Given the description of an element on the screen output the (x, y) to click on. 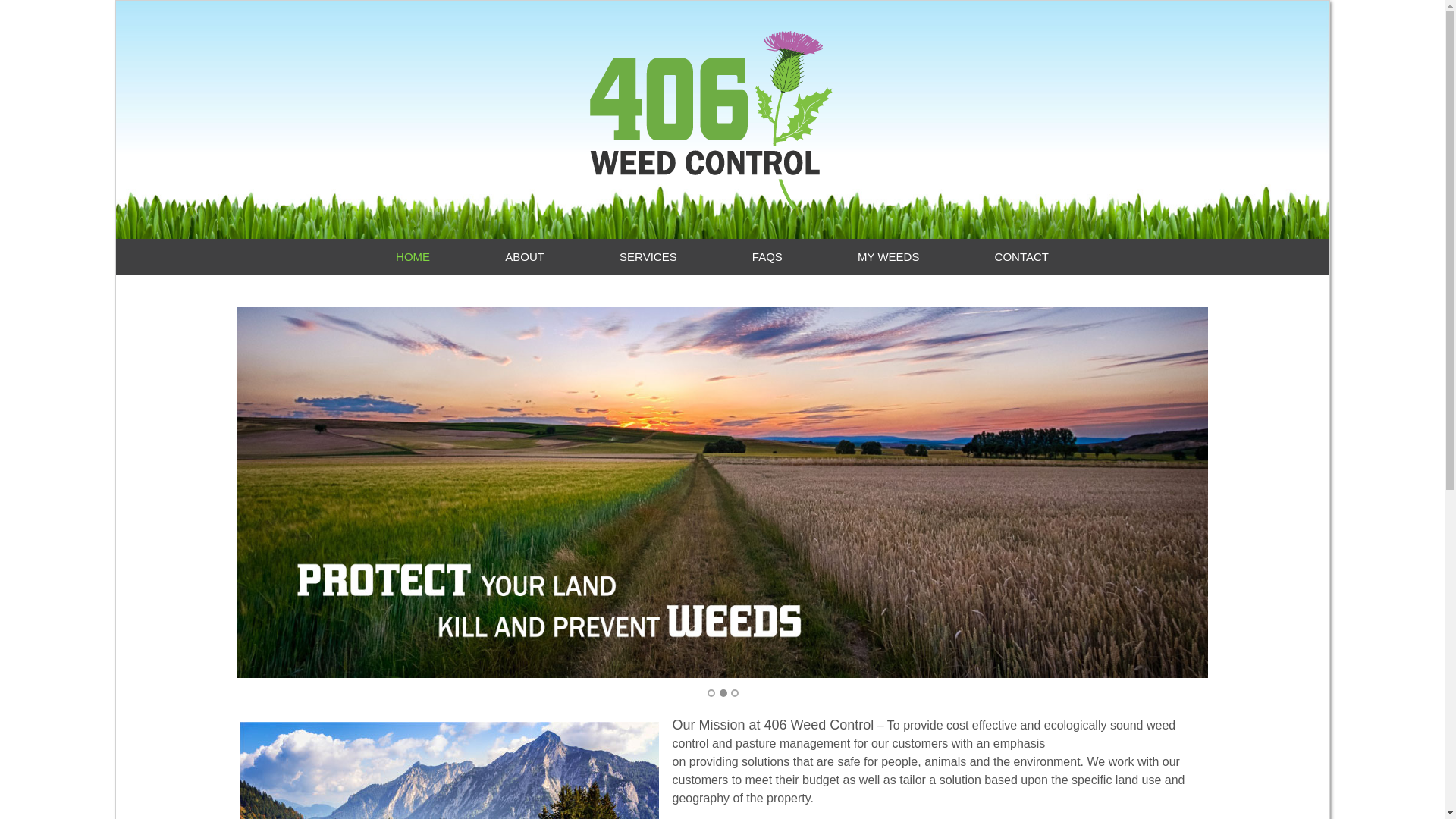
HOME Element type: text (412, 256)
SERVICES Element type: text (648, 256)
2 Element type: text (722, 692)
1 Element type: text (711, 692)
CONTACT Element type: text (1021, 256)
slide 2 Element type: hover (721, 492)
MY WEEDS Element type: text (888, 256)
ABOUT Element type: text (524, 256)
FAQS Element type: text (766, 256)
3 Element type: text (734, 692)
